Given the description of an element on the screen output the (x, y) to click on. 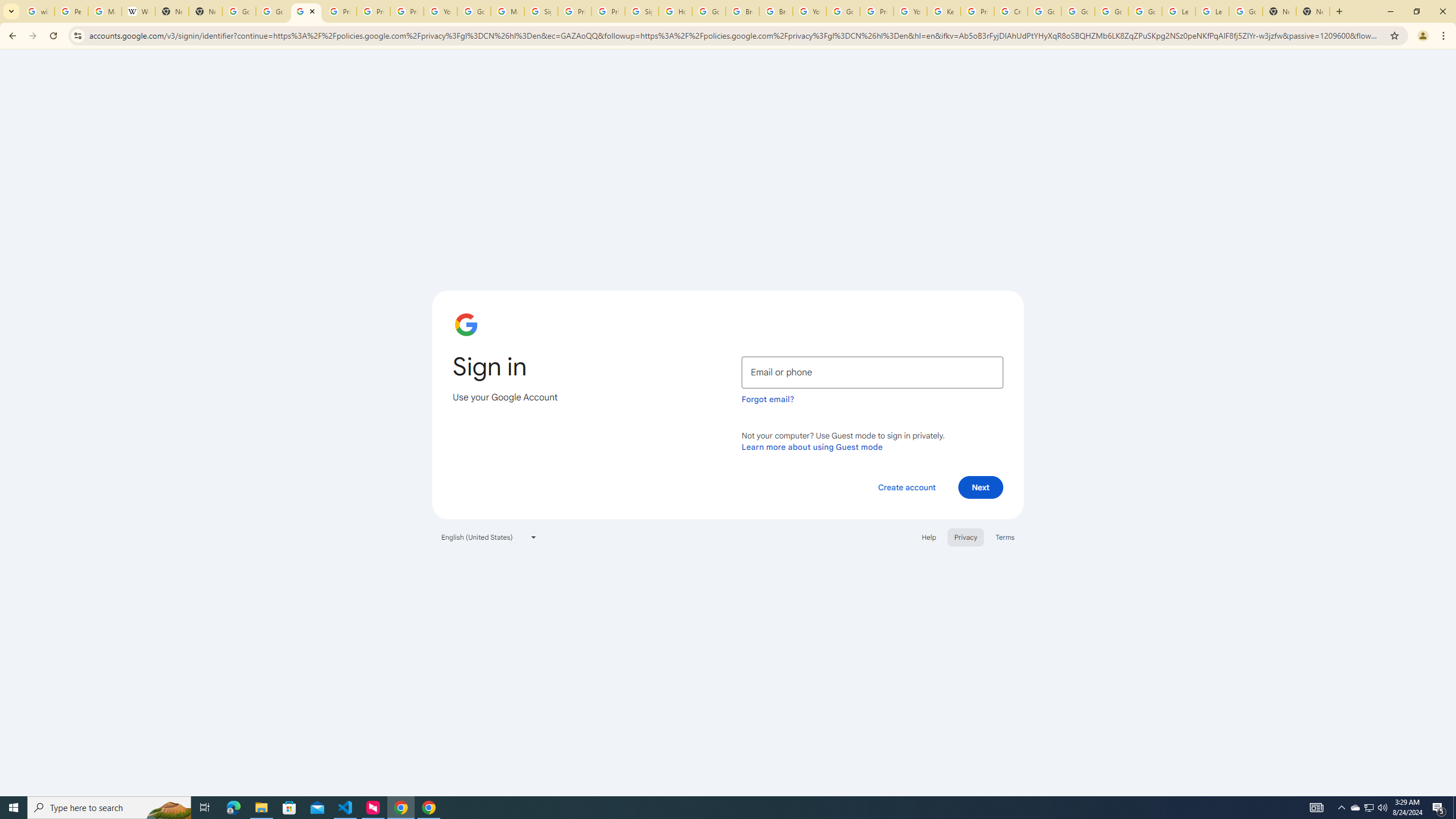
Create your Google Account (1010, 11)
English (United States) (489, 536)
Sign in - Google Accounts (641, 11)
Email or phone (872, 372)
New Tab (1279, 11)
Manage your Location History - Google Search Help (104, 11)
Google Account Help (1077, 11)
Google Account Help (842, 11)
Help (928, 536)
New Tab (1313, 11)
